Given the description of an element on the screen output the (x, y) to click on. 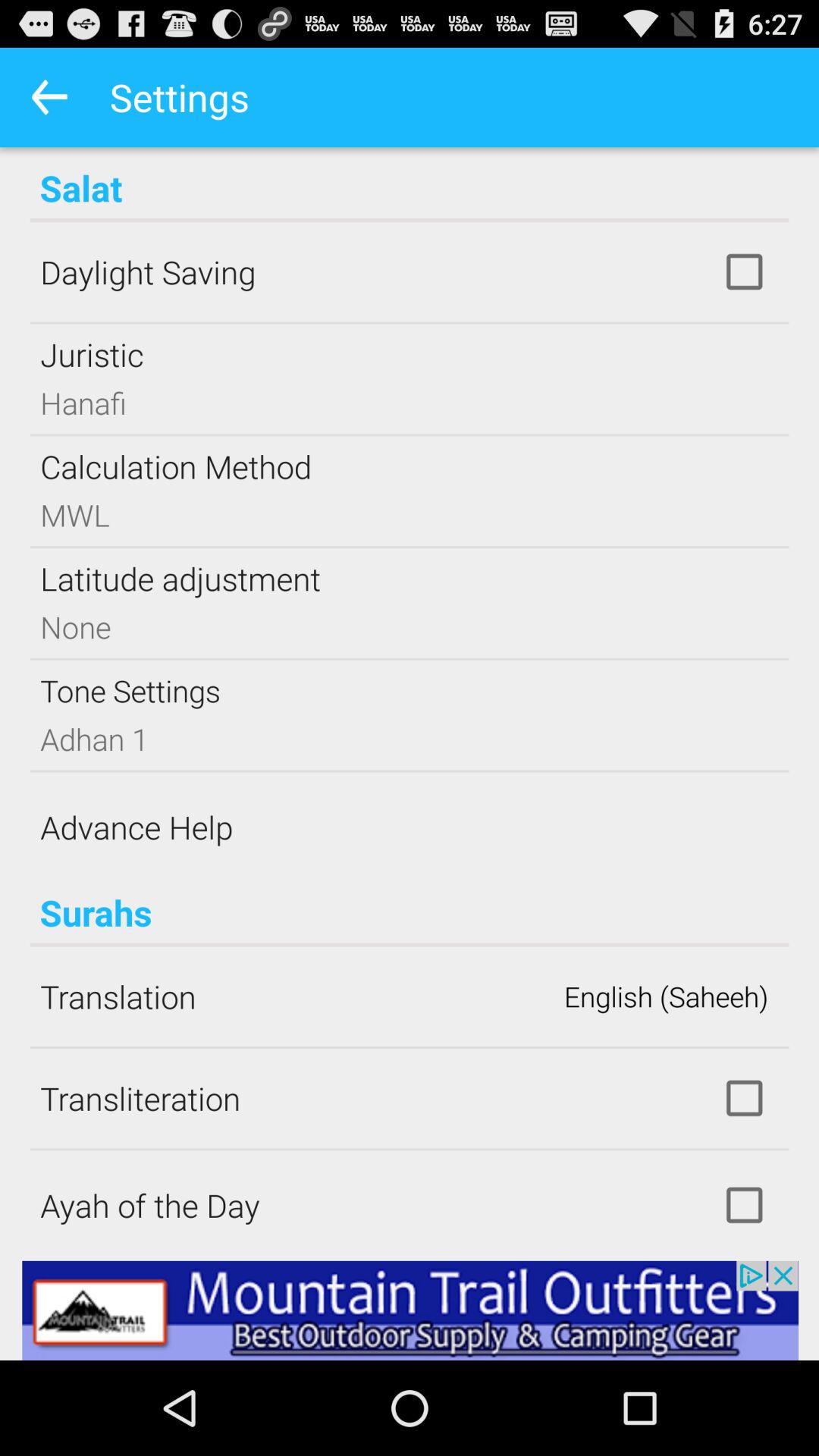
advertisement page (409, 1310)
